Given the description of an element on the screen output the (x, y) to click on. 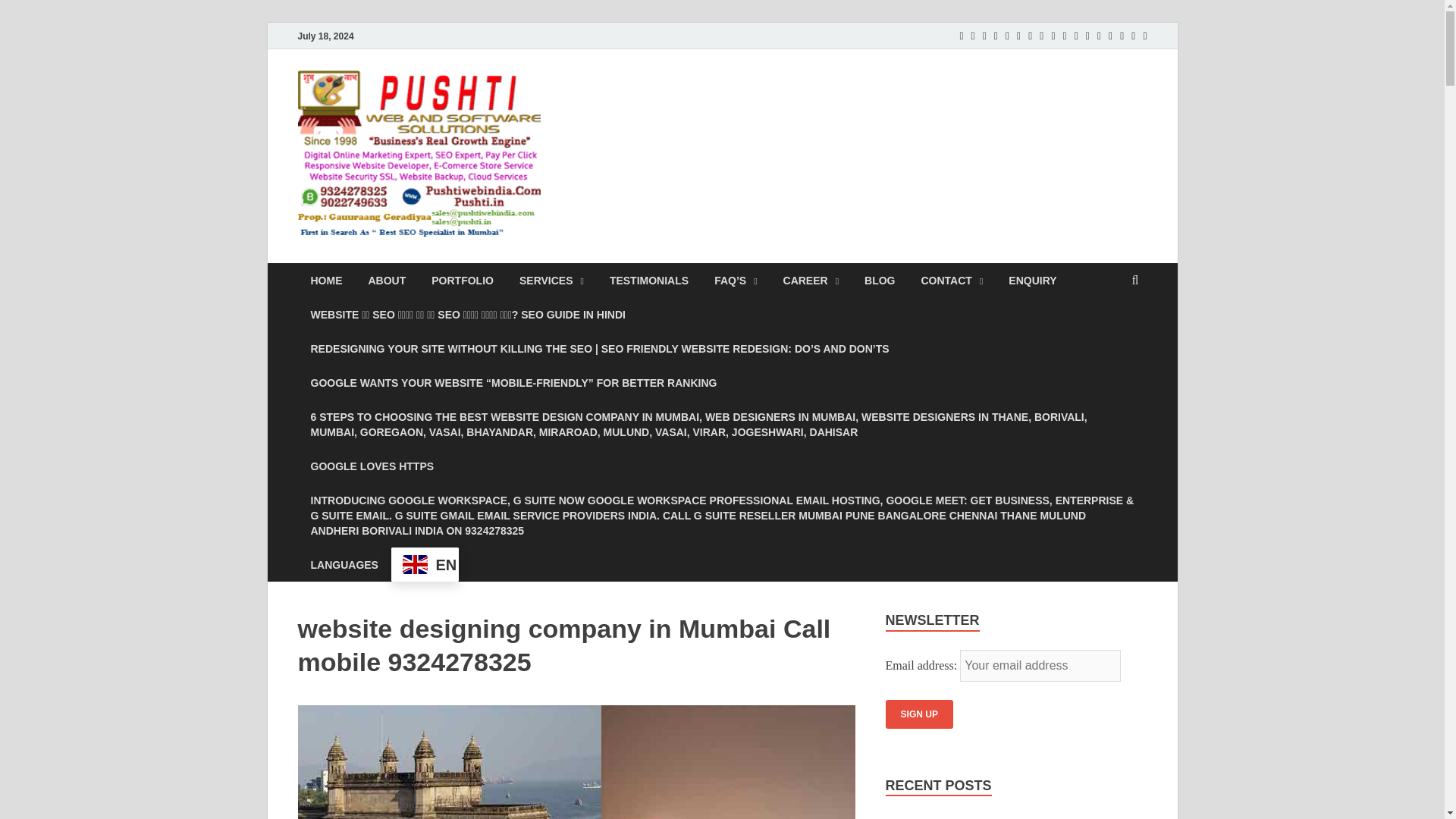
Sign up (919, 714)
HOME (326, 279)
ABOUT (387, 279)
PORTFOLIO (462, 279)
SERVICES (551, 279)
